Given the description of an element on the screen output the (x, y) to click on. 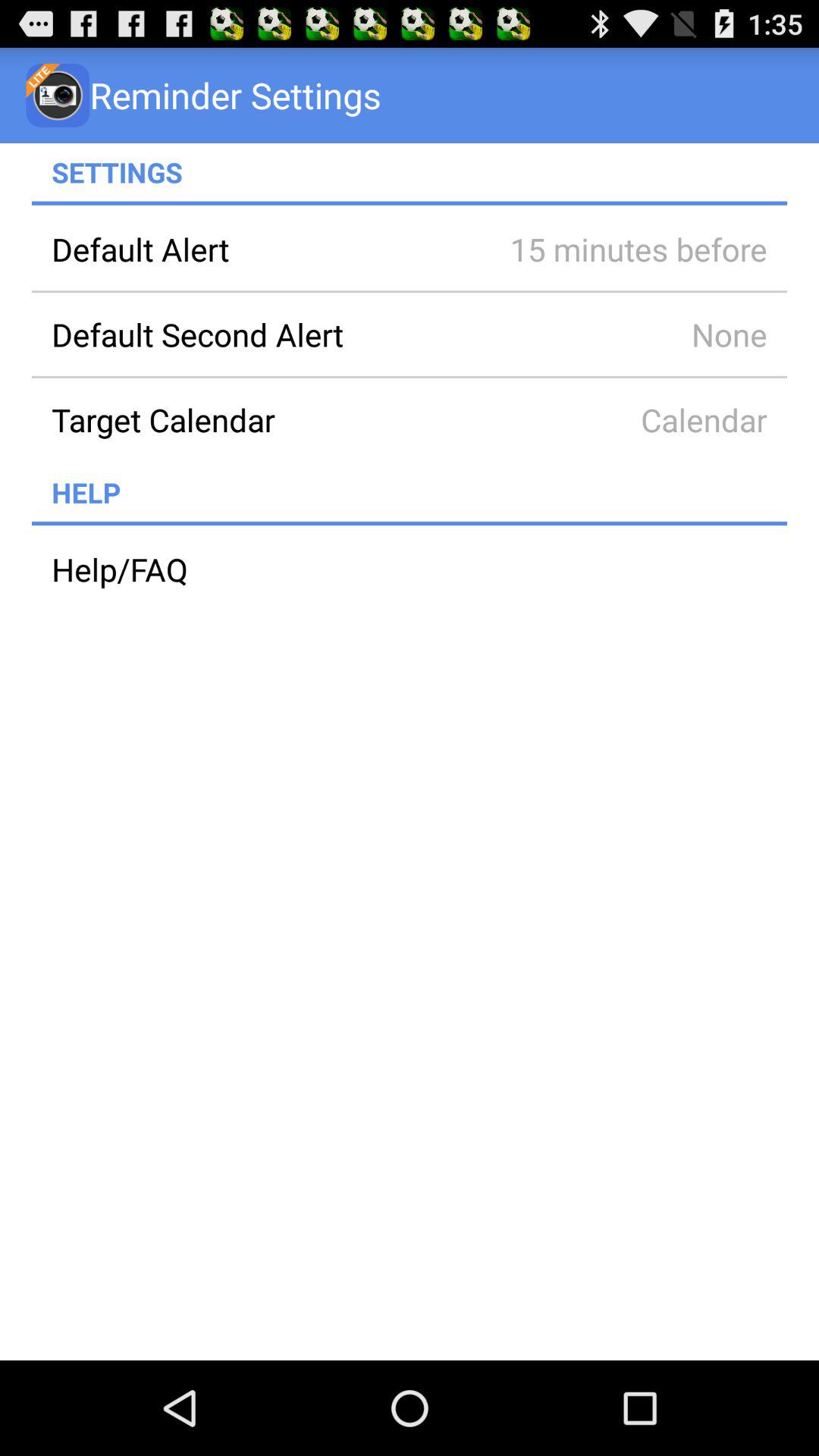
select the app next to default second alert app (617, 334)
